Given the description of an element on the screen output the (x, y) to click on. 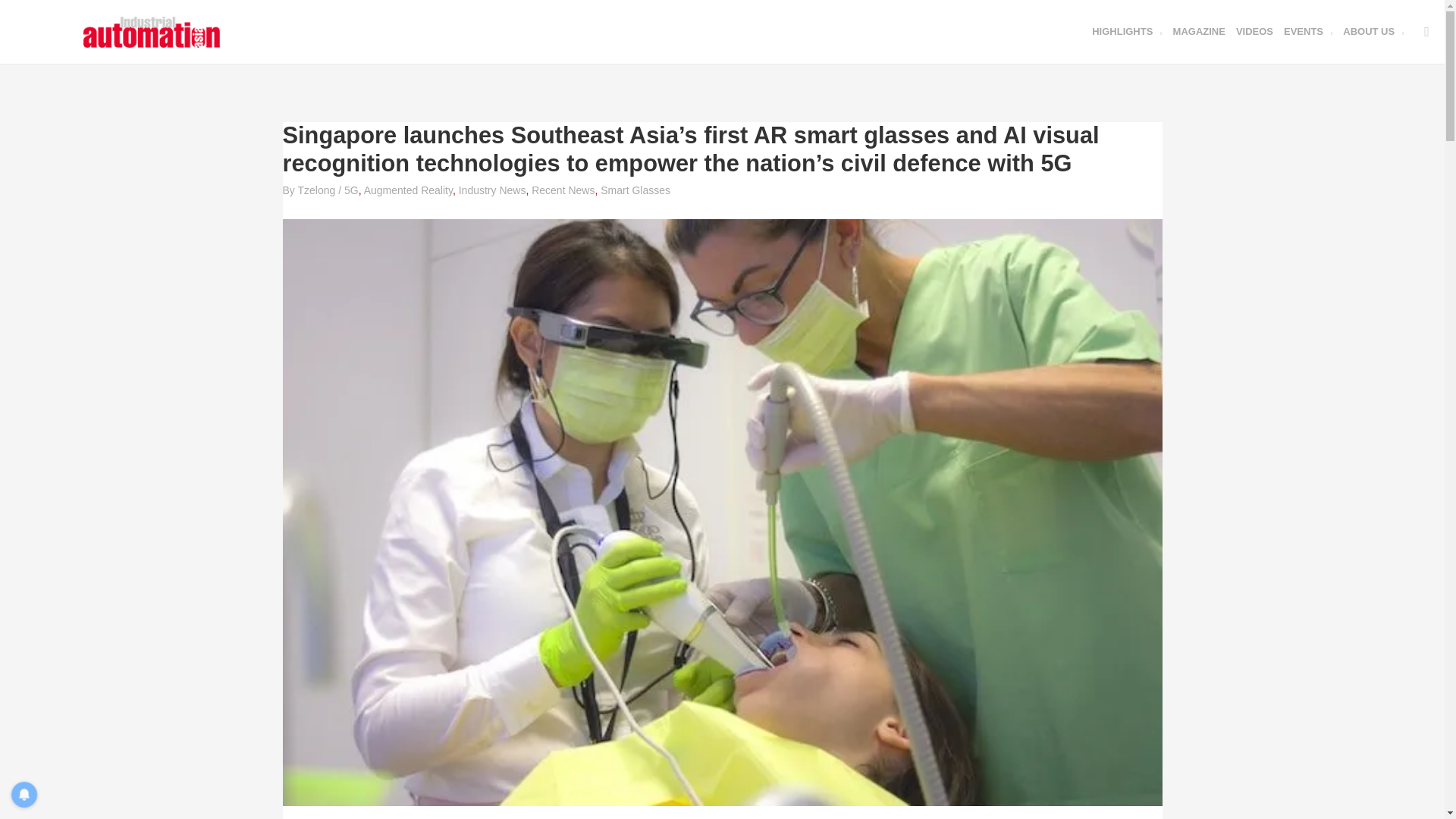
View all posts by Tzelong (317, 190)
HIGHLIGHTS (1126, 31)
